Given the description of an element on the screen output the (x, y) to click on. 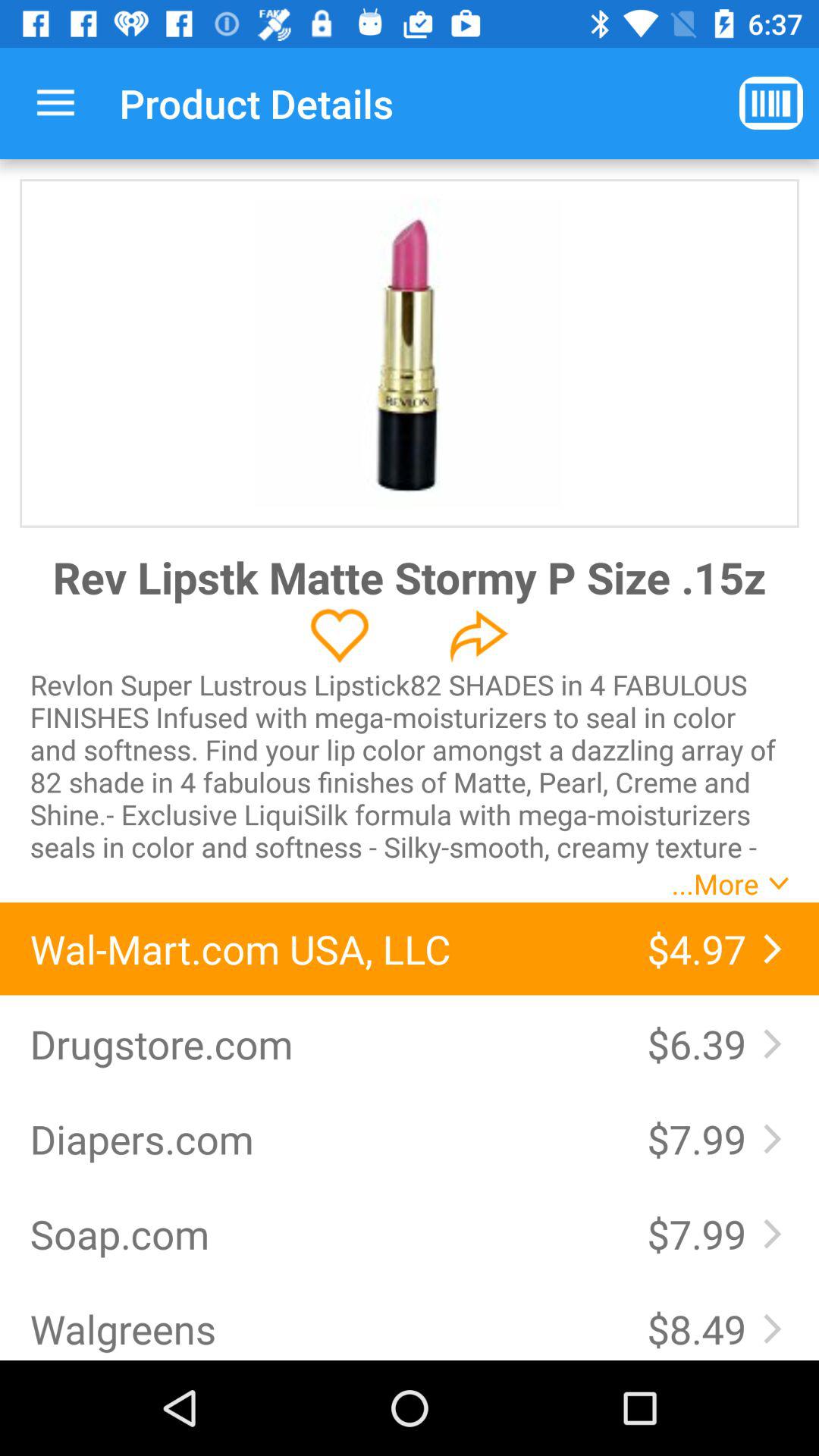
swipe until revlon super lustrous icon (409, 765)
